Given the description of an element on the screen output the (x, y) to click on. 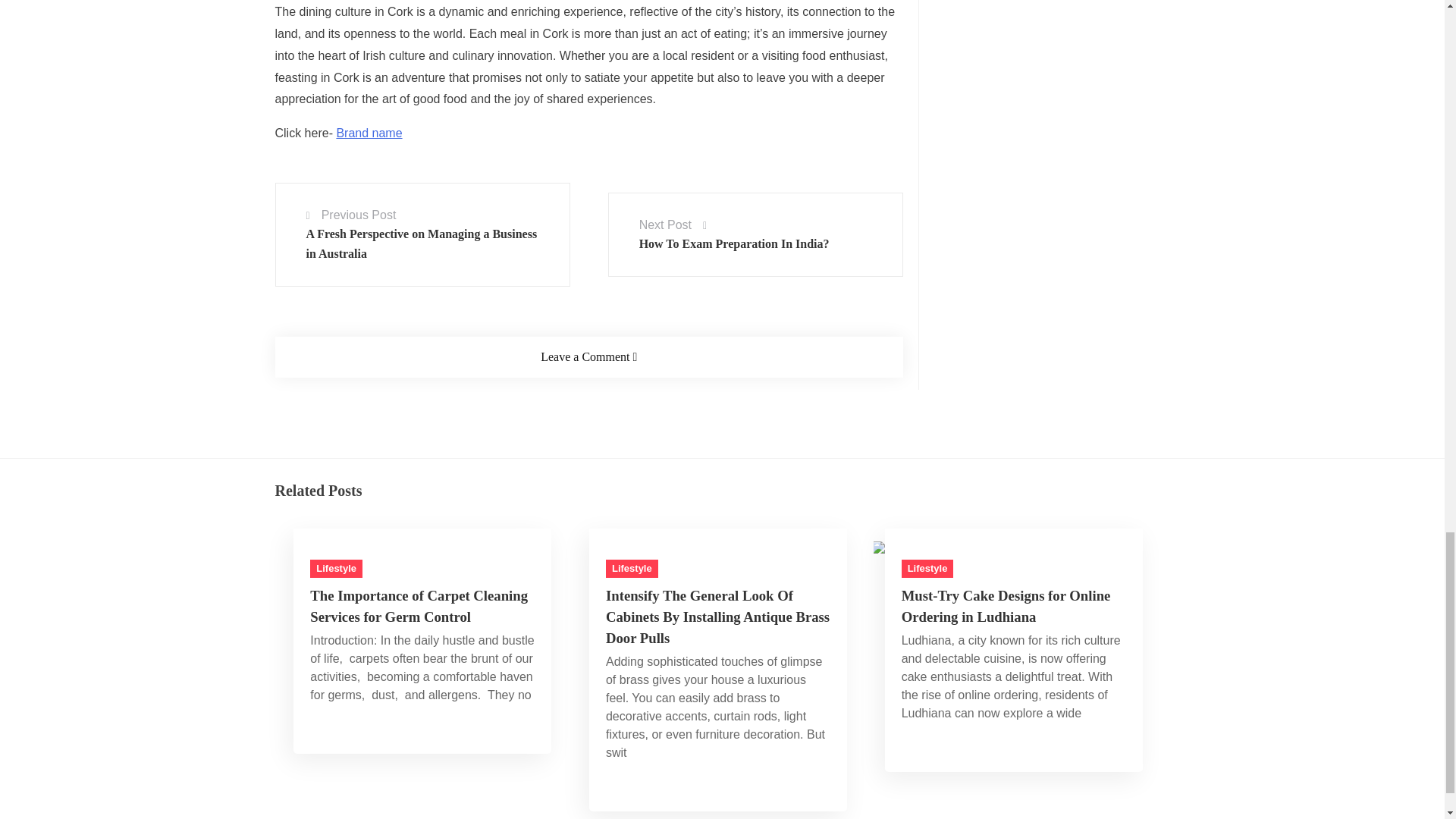
A Fresh Perspective on Managing a Business in Australia (421, 243)
Brand name (368, 132)
Previous Post (358, 214)
How To Exam Preparation In India? (734, 243)
Must-Try Cake Designs for Online Ordering in Ludhiana (951, 547)
Next Post (665, 224)
